Given the description of an element on the screen output the (x, y) to click on. 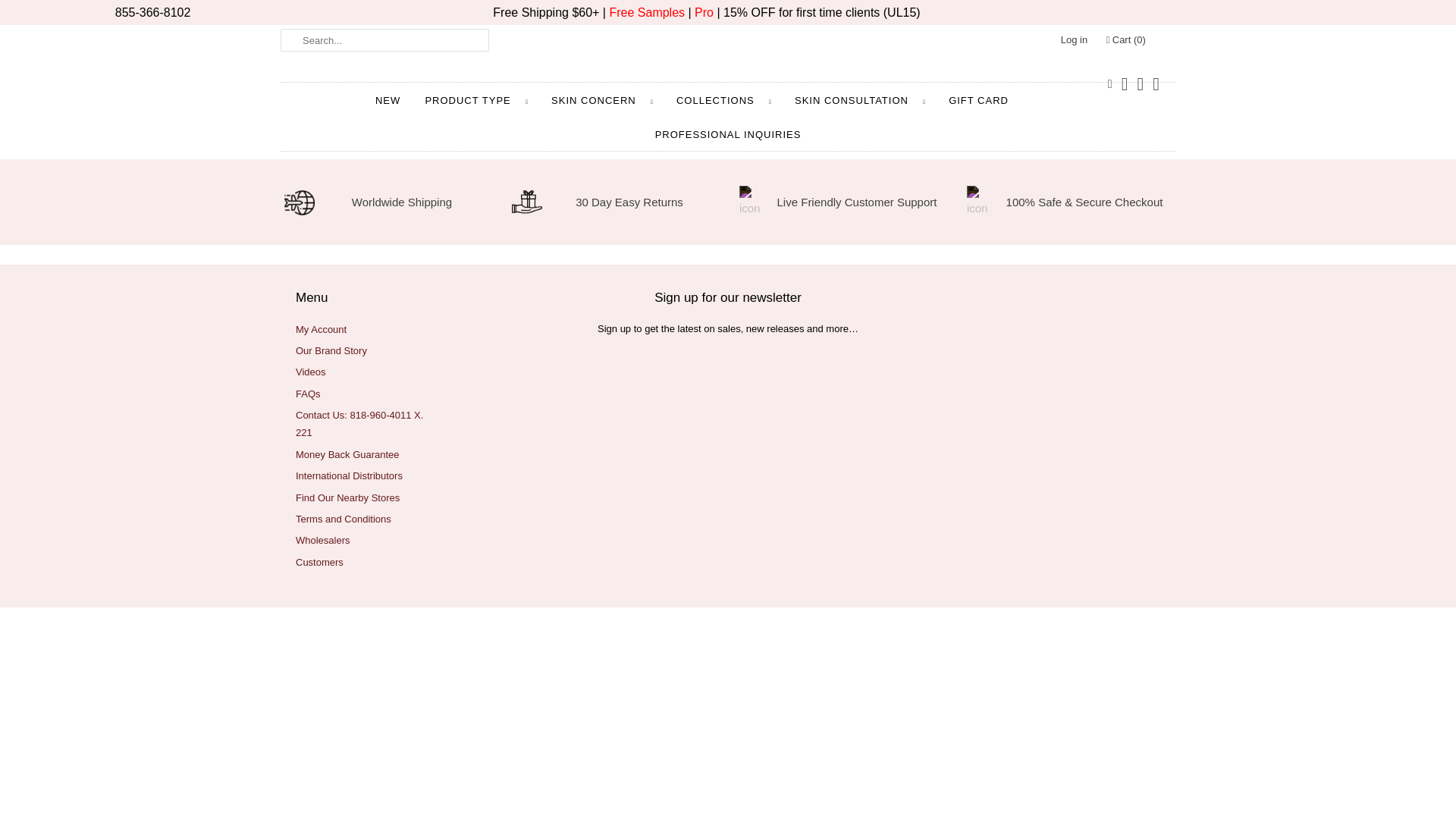
PRODUCT TYPE  (475, 100)
SKIN CONCERN  (601, 100)
Pro (703, 11)
Free Samples (646, 11)
855-366-8102 (151, 12)
NEW (387, 100)
Log in (1074, 39)
